Given the description of an element on the screen output the (x, y) to click on. 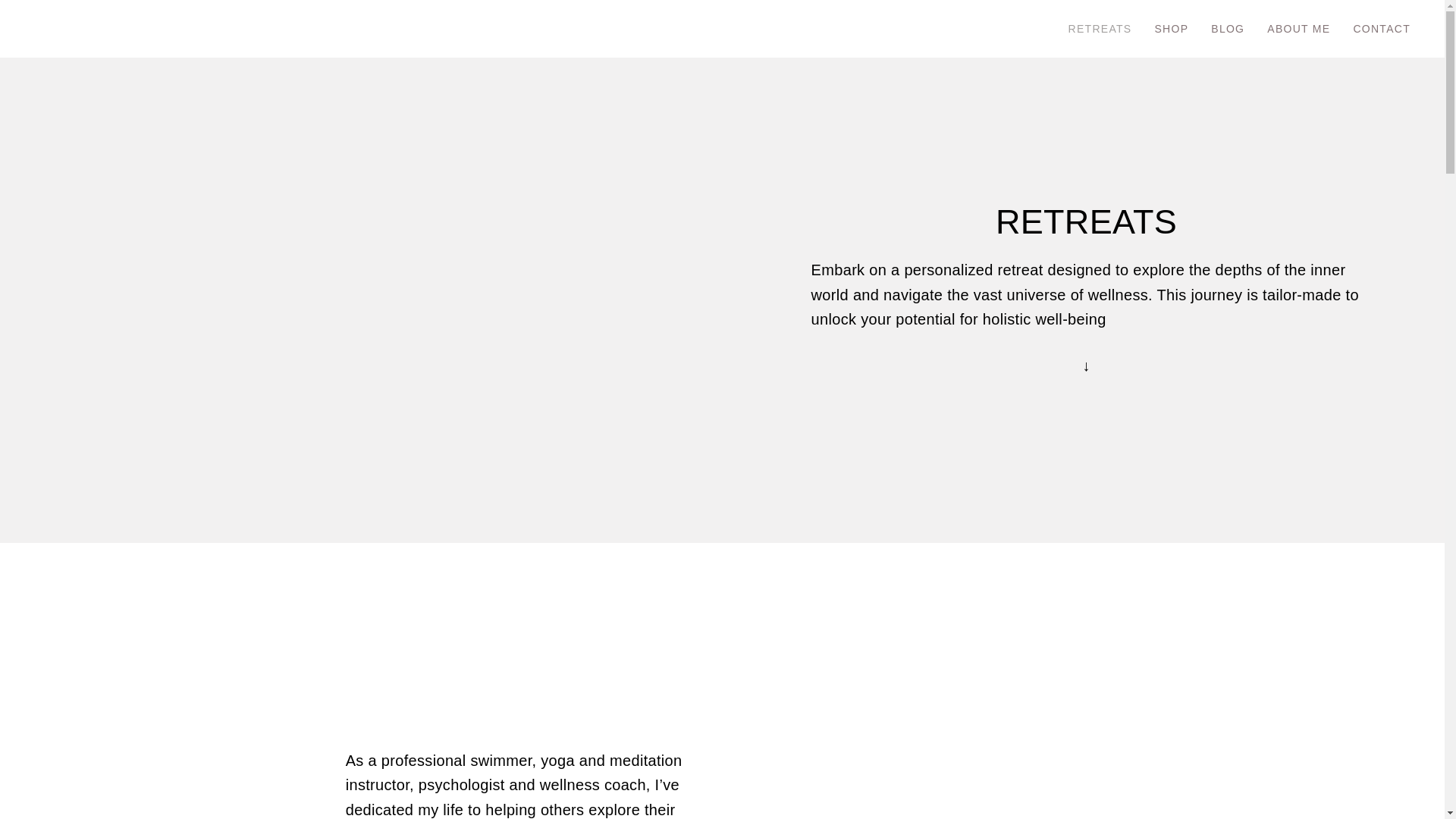
ABOUT ME (1297, 28)
SHOP (1170, 28)
CONTACT (1381, 28)
BLOG (1227, 28)
RETREATS (1099, 28)
